Given the description of an element on the screen output the (x, y) to click on. 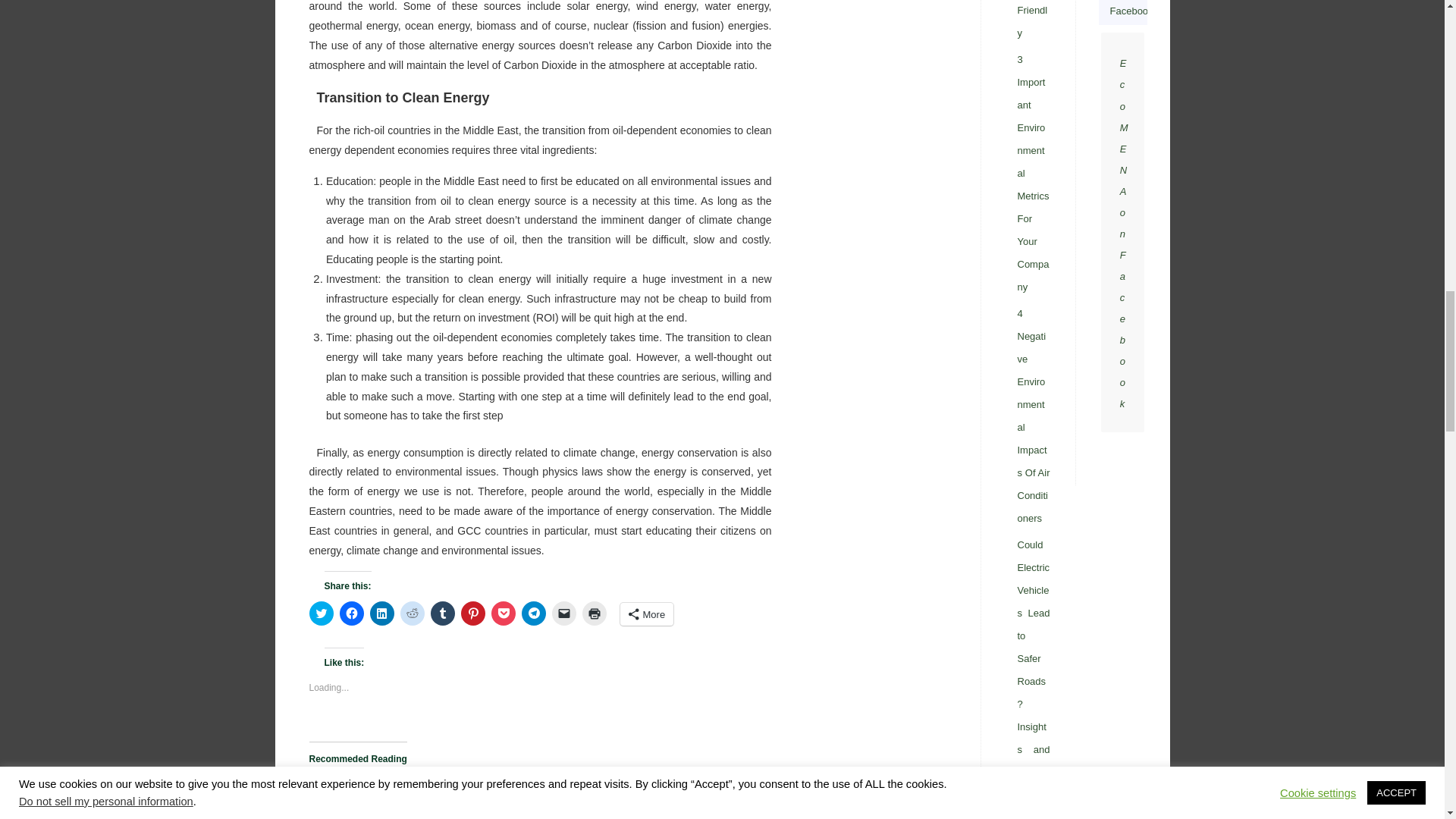
Click to share on Tumblr (442, 613)
Click to share on LinkedIn (381, 613)
Click to share on Twitter (320, 613)
More (647, 613)
Click to share on Facebook (351, 613)
Click to share on Reddit (412, 613)
Click to share on Pinterest (472, 613)
